Given the description of an element on the screen output the (x, y) to click on. 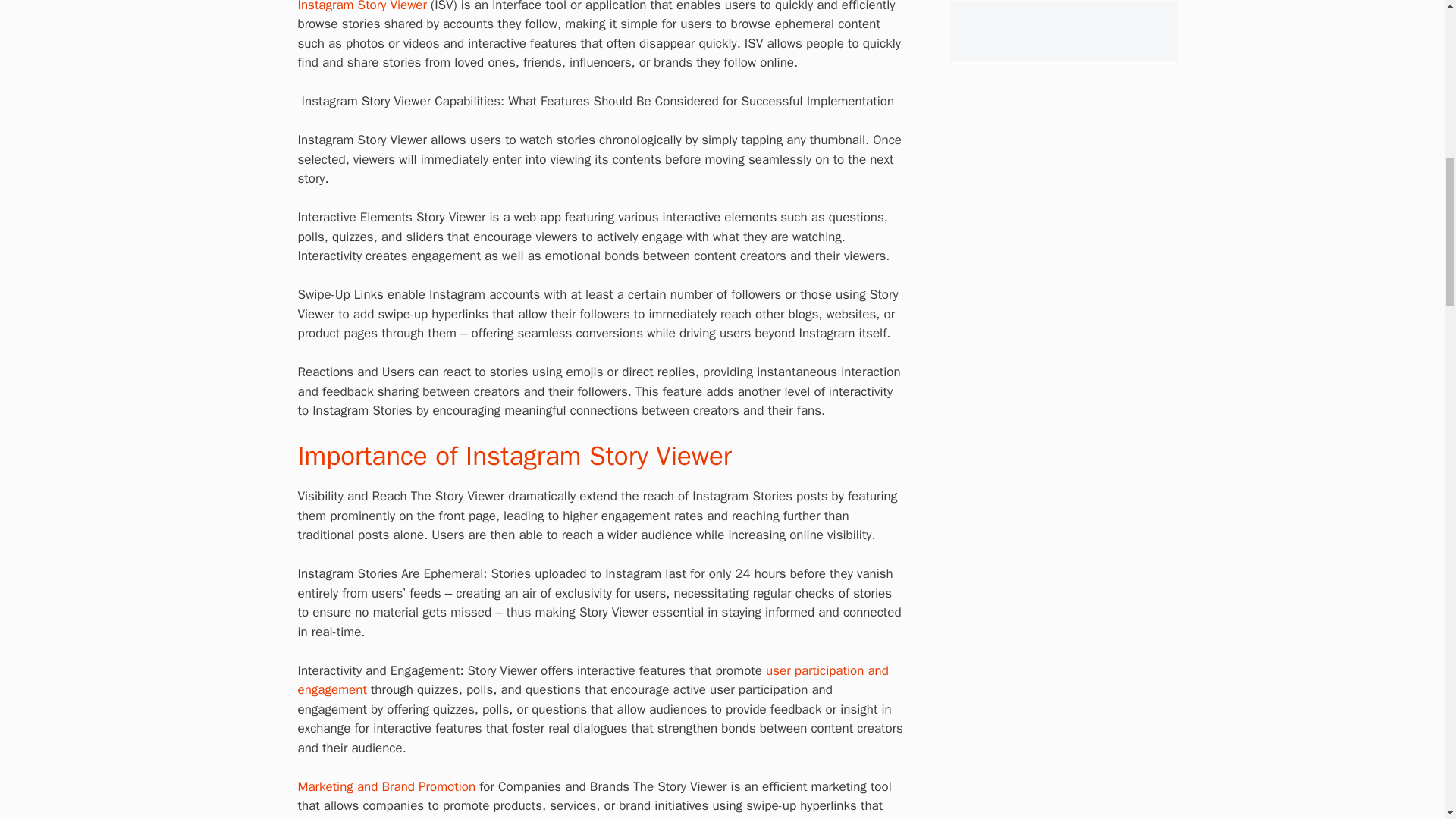
user participation and engagement (592, 680)
Instagram Story Viewer (361, 6)
Marketing and Brand Promotion (386, 786)
